Given the description of an element on the screen output the (x, y) to click on. 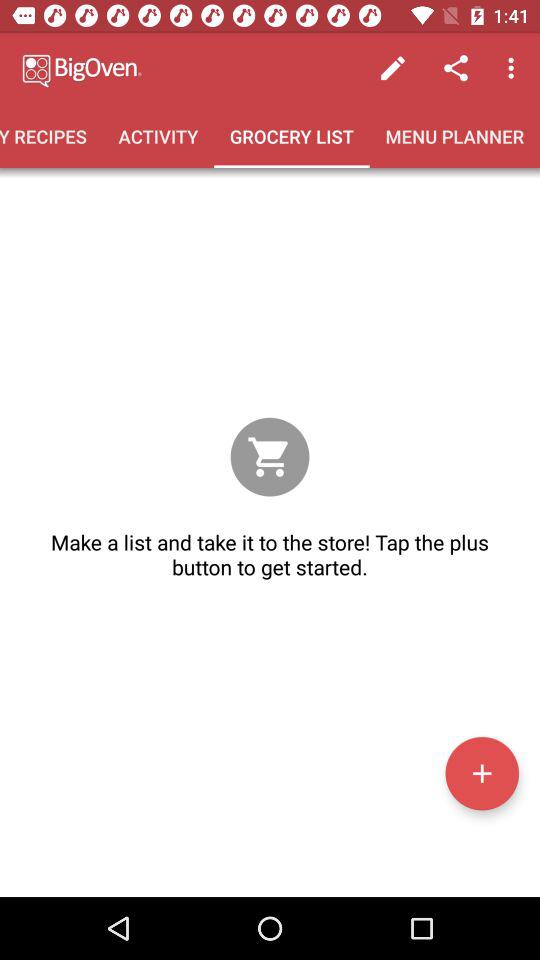
choose the icon above menu planner (392, 67)
